Given the description of an element on the screen output the (x, y) to click on. 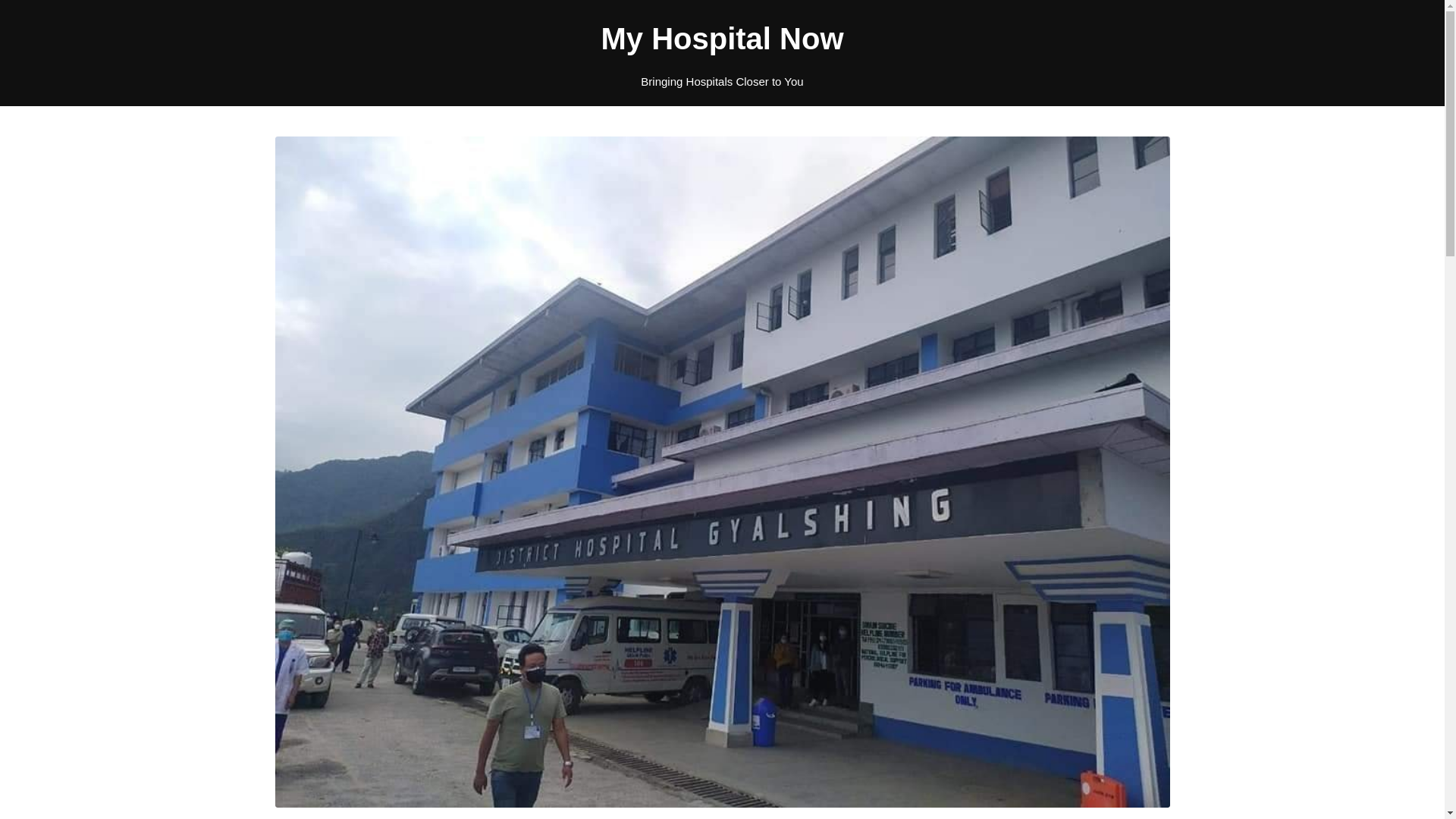
My Hospital Now (722, 38)
